Given the description of an element on the screen output the (x, y) to click on. 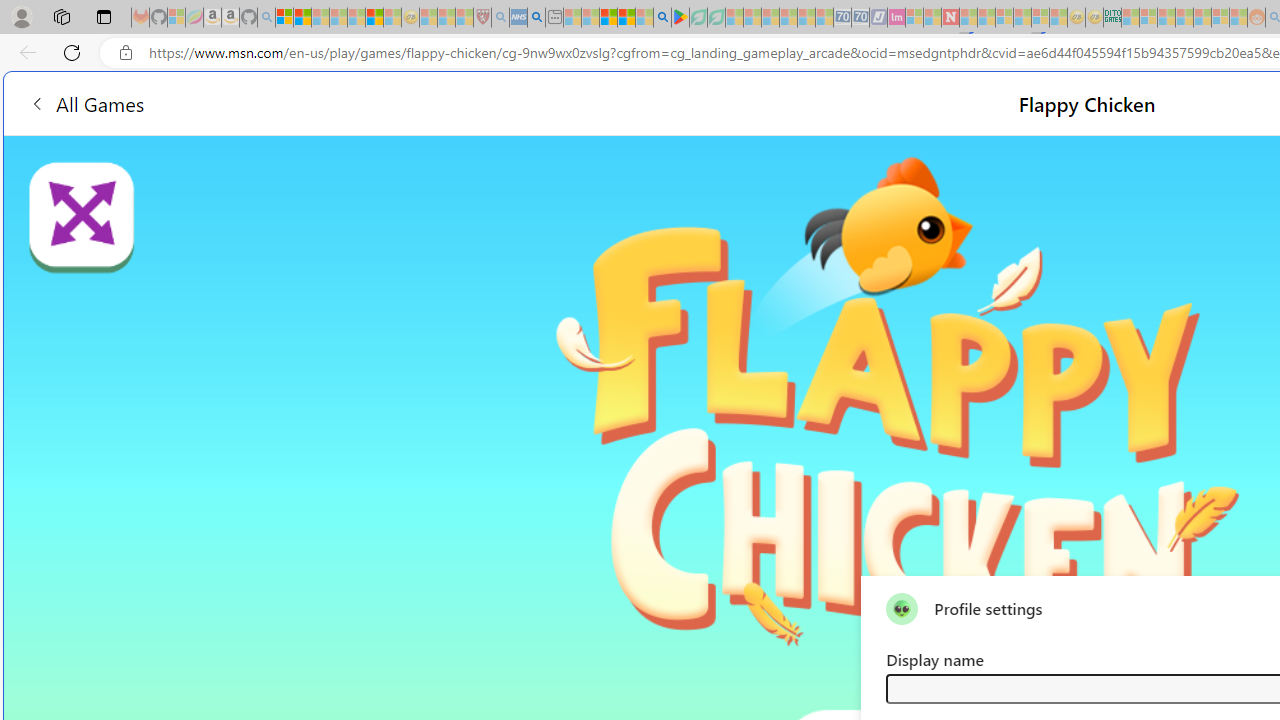
All Games (380, 102)
Pets - MSN (626, 17)
